Given the description of an element on the screen output the (x, y) to click on. 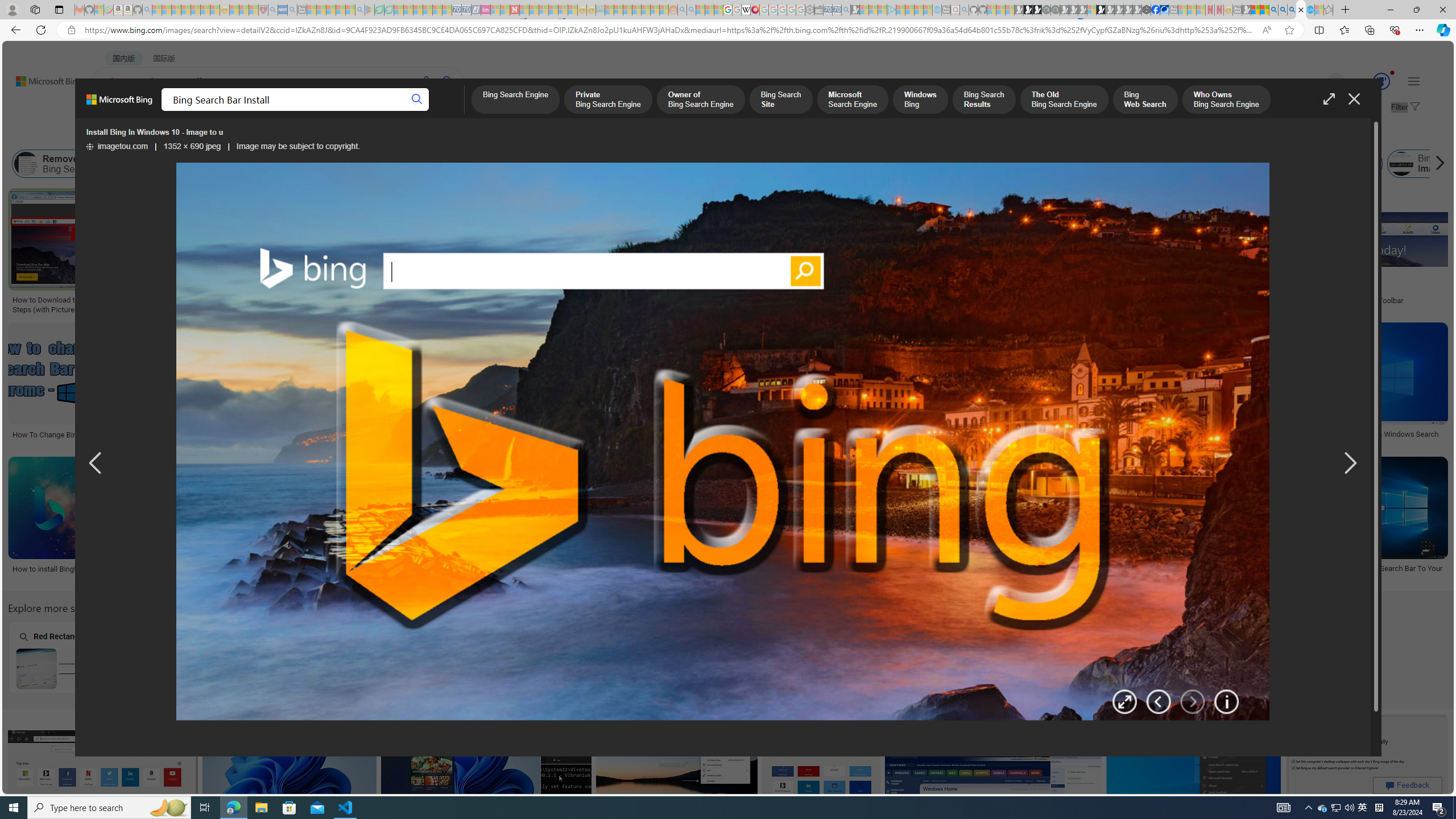
Install Bing (367, 163)
Layout (253, 135)
Bing Search Bar Special Characters Special Characters (224, 656)
Microsoft Bing Search Bar (788, 163)
Image may be subject to copyright. (297, 146)
